Given the description of an element on the screen output the (x, y) to click on. 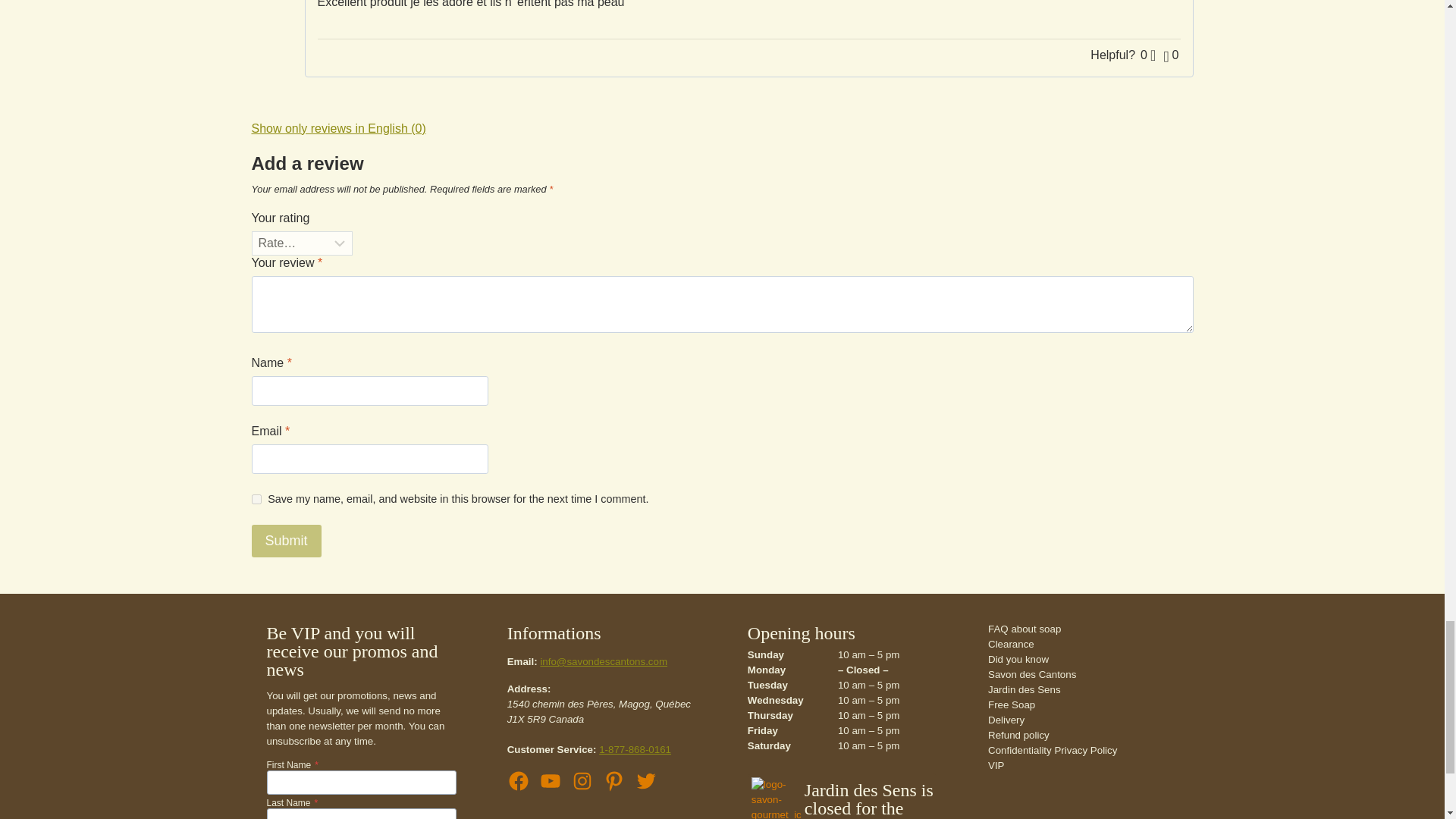
Submit (286, 540)
yes (256, 499)
